Given the description of an element on the screen output the (x, y) to click on. 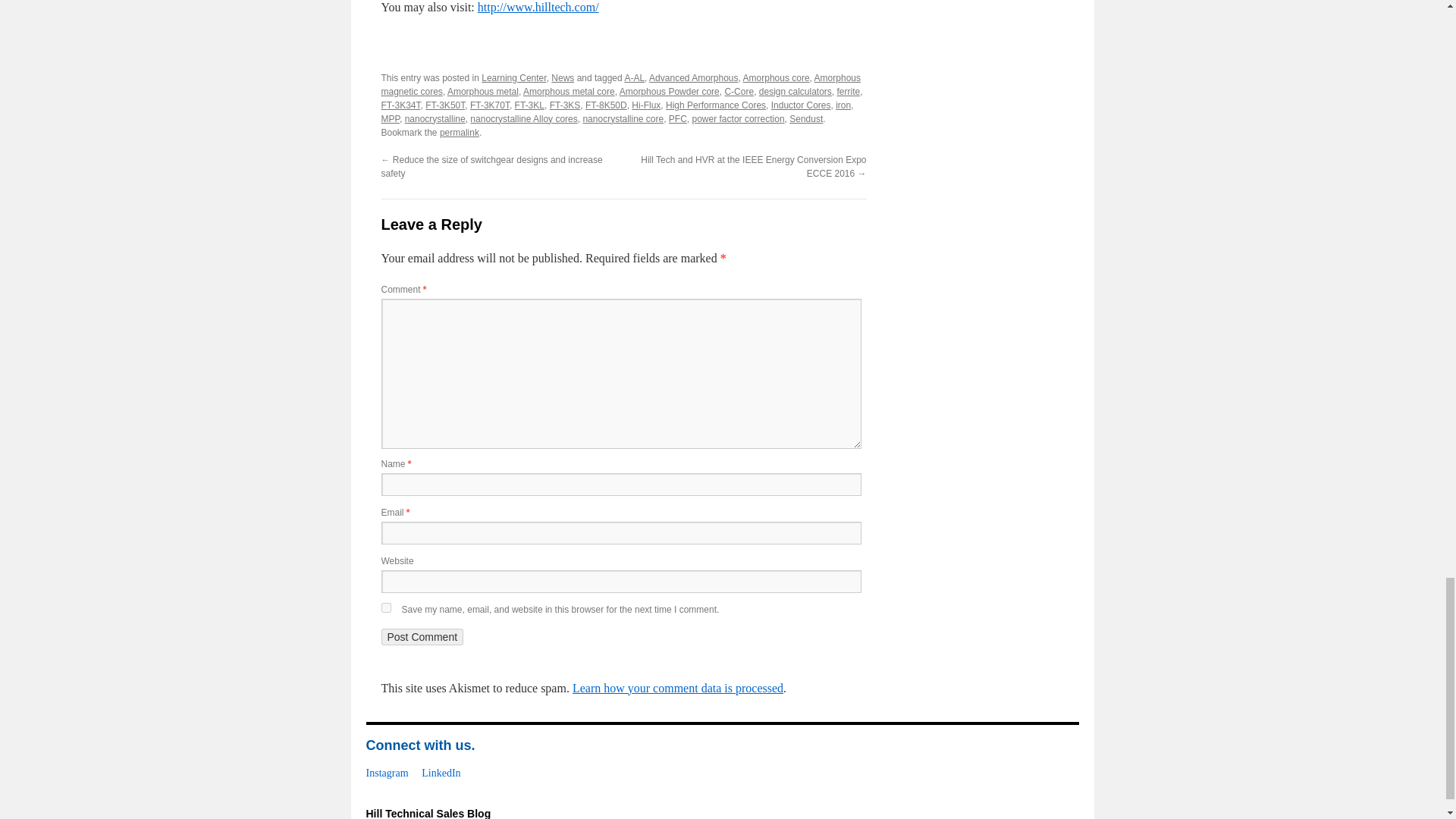
ferrite (848, 91)
A-AL (634, 77)
design calculators (794, 91)
Learning Center (513, 77)
Amorphous magnetic cores (620, 84)
FT-3K70T (489, 104)
C-Core (738, 91)
Amorphous core (775, 77)
Amorphous metal (482, 91)
Advanced Amorphous (693, 77)
Amorphous metal core (568, 91)
Post Comment (421, 636)
FT-3KL (529, 104)
Amorphous Powder core (669, 91)
FT-3KS (565, 104)
